Given the description of an element on the screen output the (x, y) to click on. 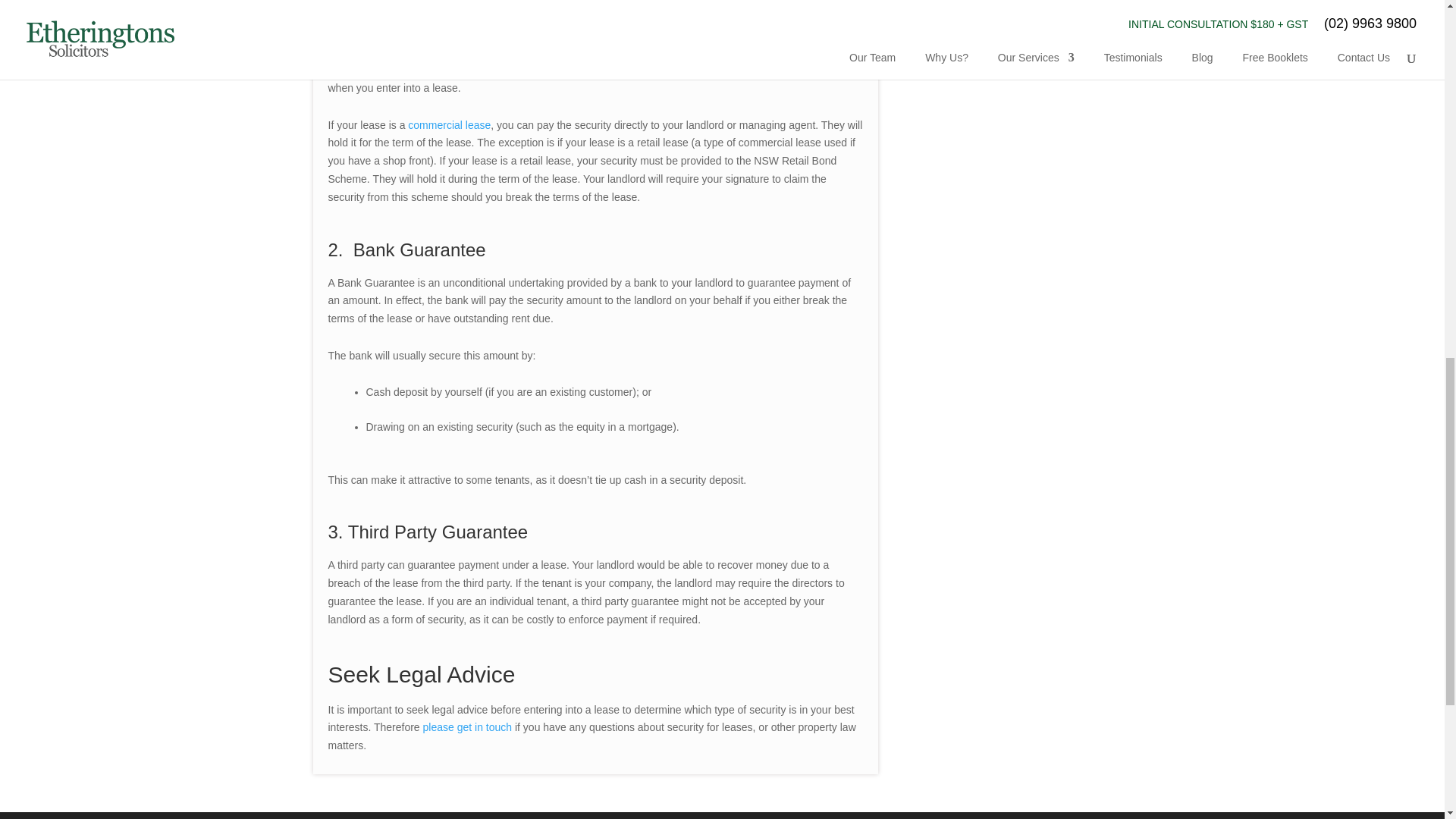
commercial lease (448, 124)
please get in touch (469, 727)
